Given the description of an element on the screen output the (x, y) to click on. 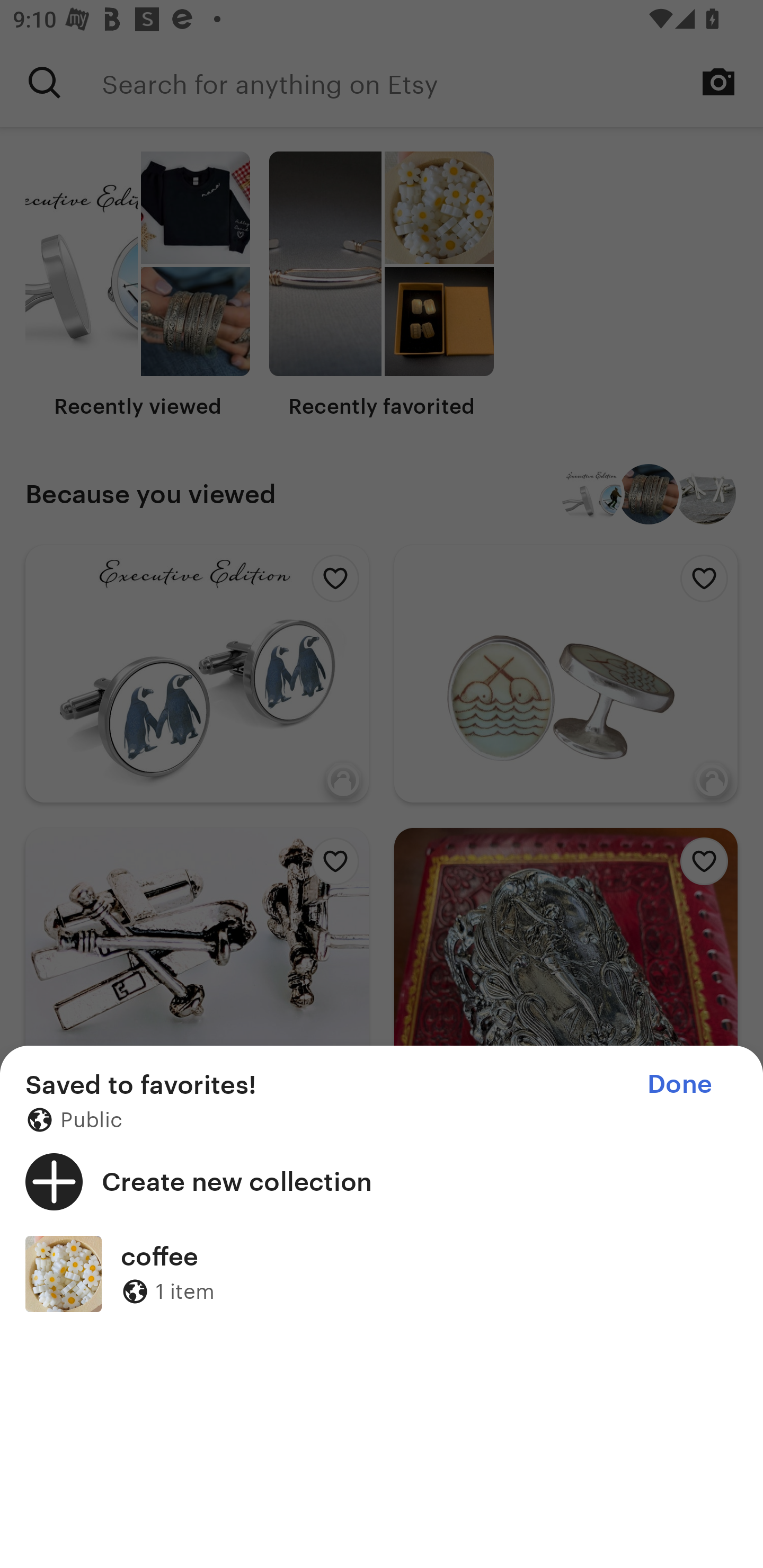
Done (679, 1083)
Create new collection (381, 1181)
coffee 1 item (381, 1273)
